Given the description of an element on the screen output the (x, y) to click on. 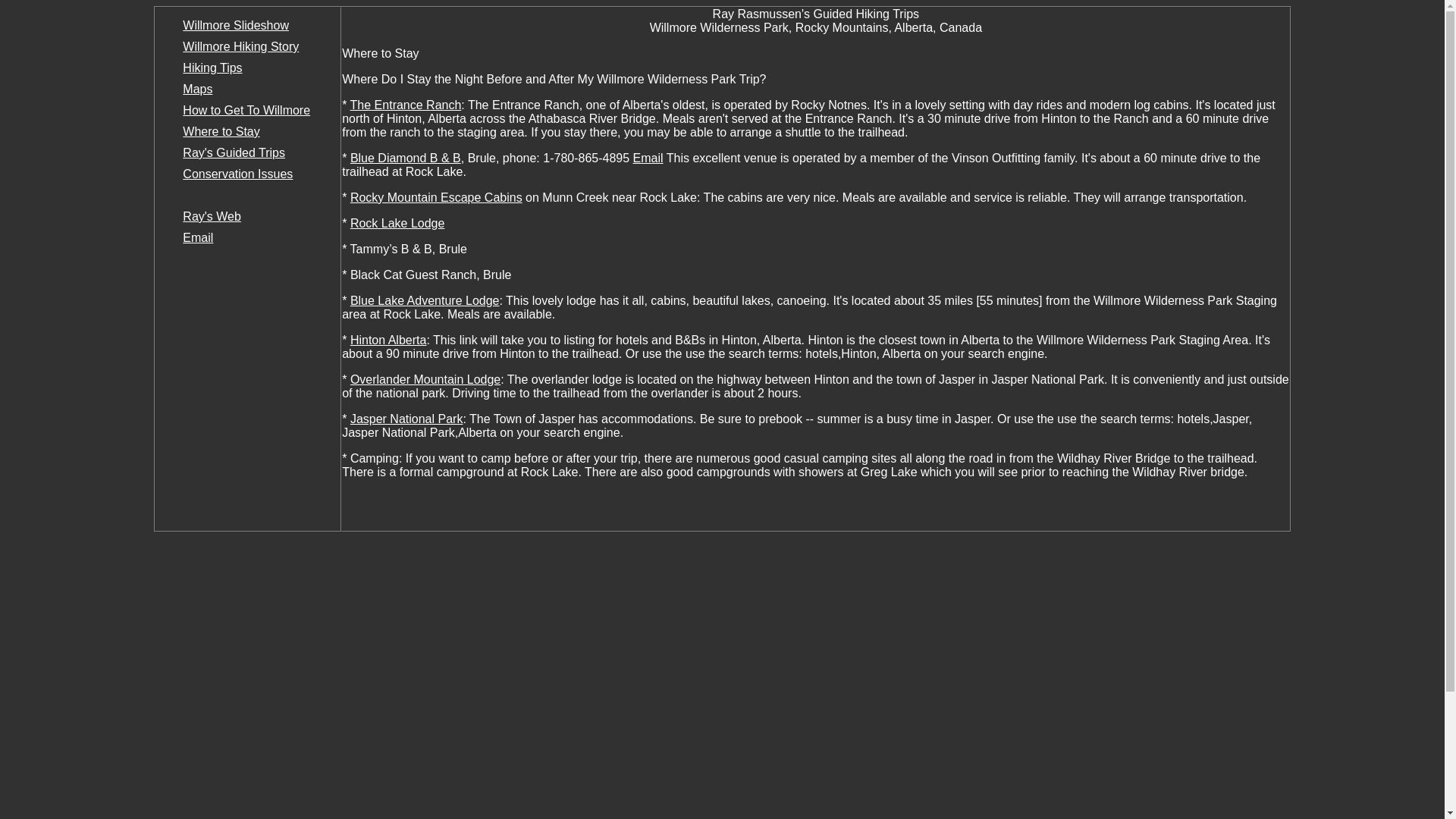
Willmore Slideshow (235, 24)
How to Get To Willmore (246, 110)
Hinton Alberta (388, 339)
Conservation Issues (237, 173)
Rock Lake Lodge (397, 223)
Maps (197, 88)
Ray's Guided Trips (234, 152)
Blue Lake Adventure Lodge (424, 300)
Where to Stay (221, 131)
Overlander Mountain Lodge (425, 379)
Ray's Web (212, 215)
Willmore Hiking Story (240, 46)
Jasper National Park (406, 418)
Email (197, 237)
The Entrance Ranch (405, 104)
